Given the description of an element on the screen output the (x, y) to click on. 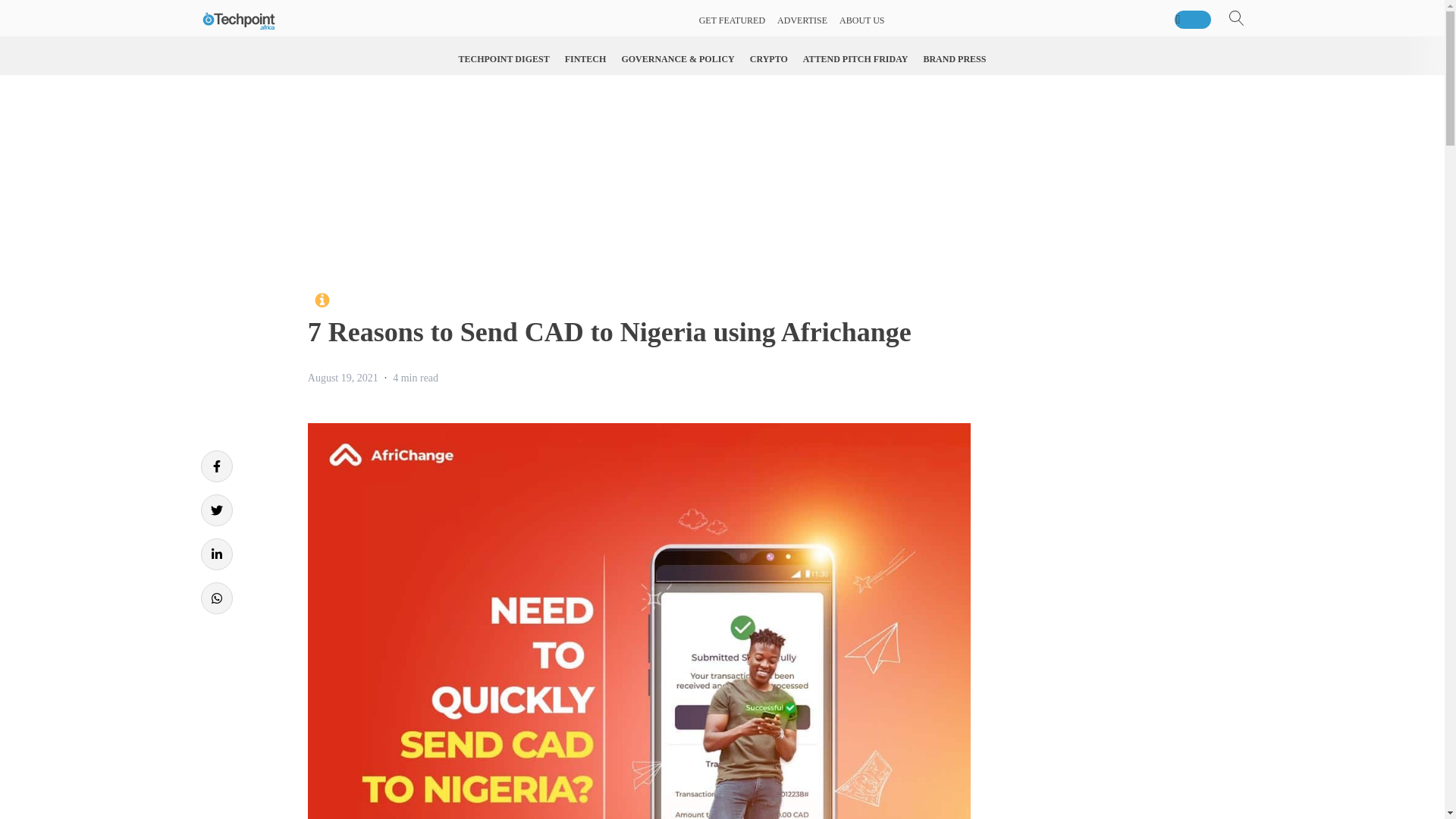
ABOUT US (861, 20)
ADVERTISE (802, 20)
Share on LinkedIn (215, 554)
Share on Twitter (215, 510)
GET FEATURED (731, 20)
FINTECH (585, 59)
TECHPOINT DIGEST (504, 59)
ATTEND PITCH FRIDAY (854, 59)
Share on Whatsapp (215, 598)
Share on Facebook (215, 466)
CRYPTO (768, 59)
BRAND PRESS (953, 59)
